Given the description of an element on the screen output the (x, y) to click on. 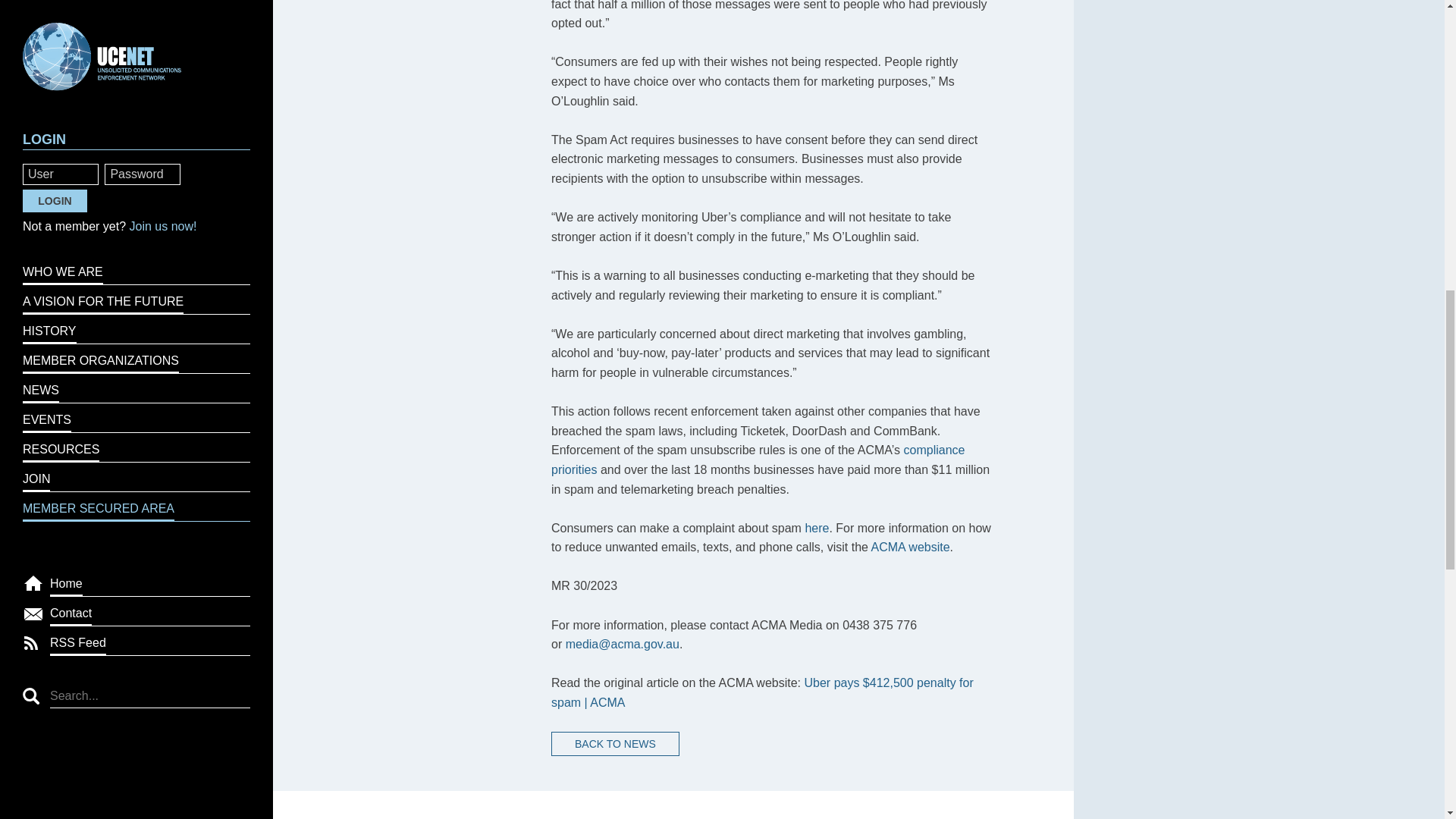
ACMA website (910, 546)
compliance priorities (757, 459)
here (816, 527)
BACK TO NEWS (615, 743)
